Given the description of an element on the screen output the (x, y) to click on. 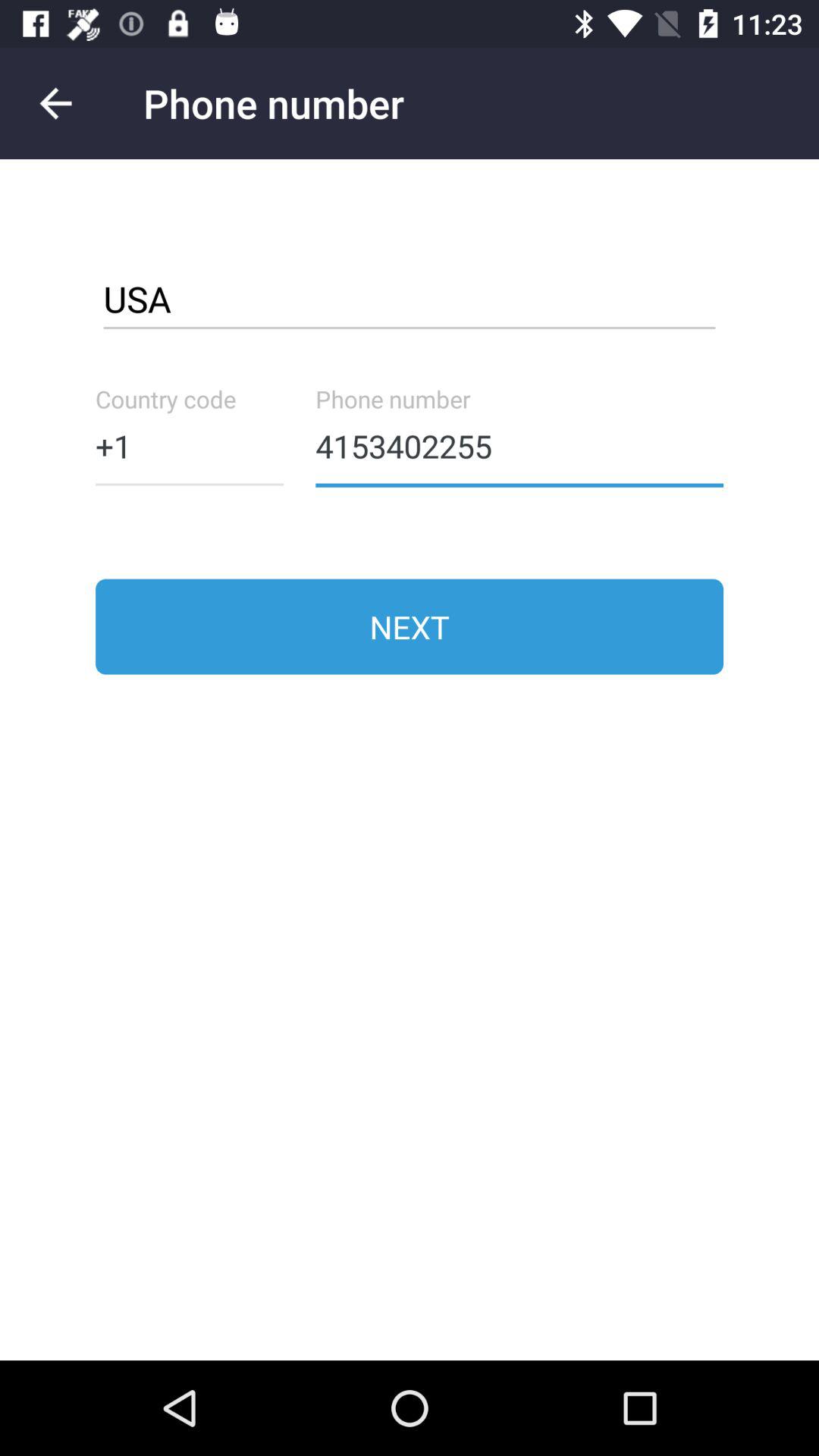
click to go back to the previous screen (55, 103)
